Given the description of an element on the screen output the (x, y) to click on. 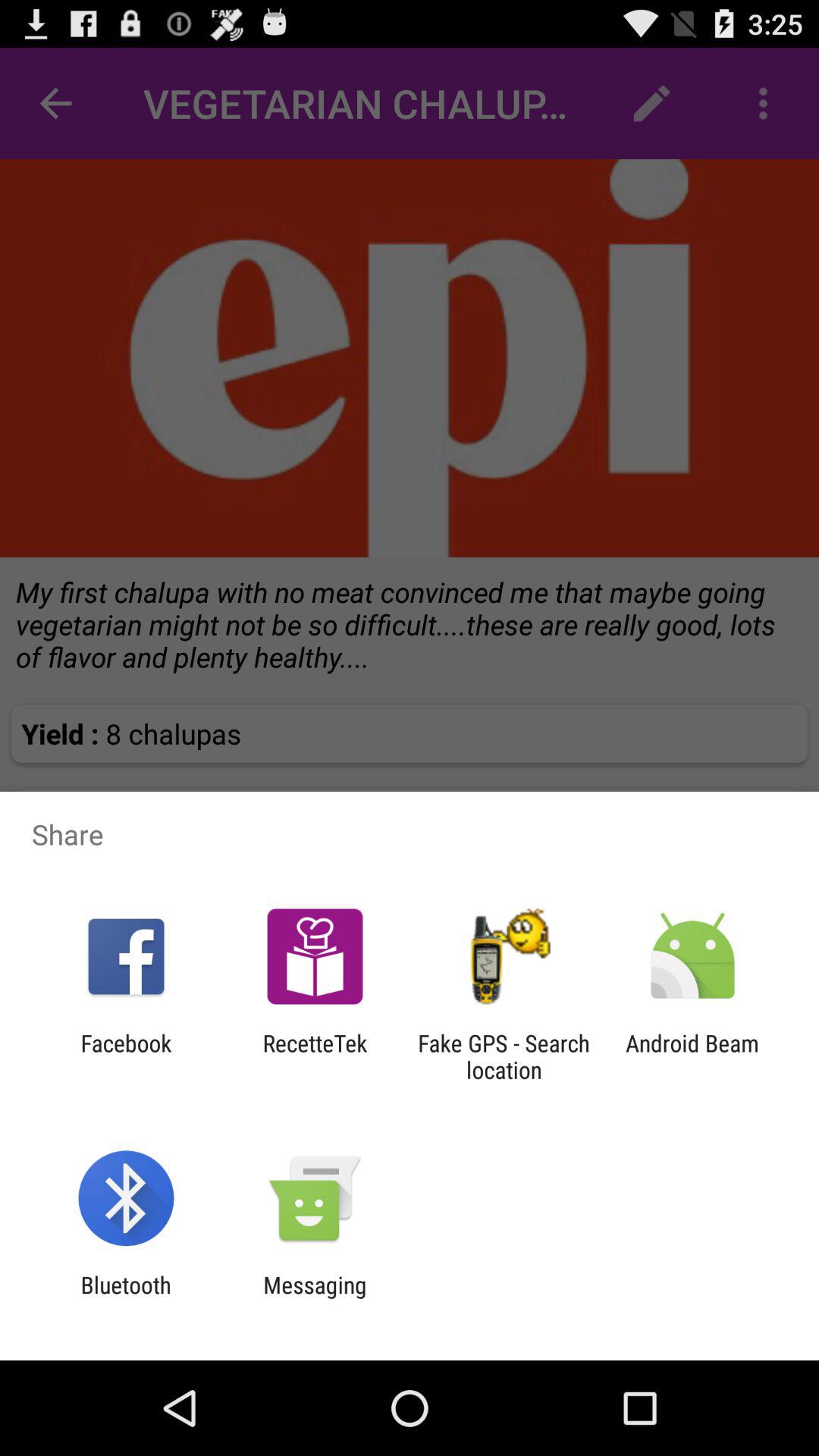
flip to android beam app (692, 1056)
